Given the description of an element on the screen output the (x, y) to click on. 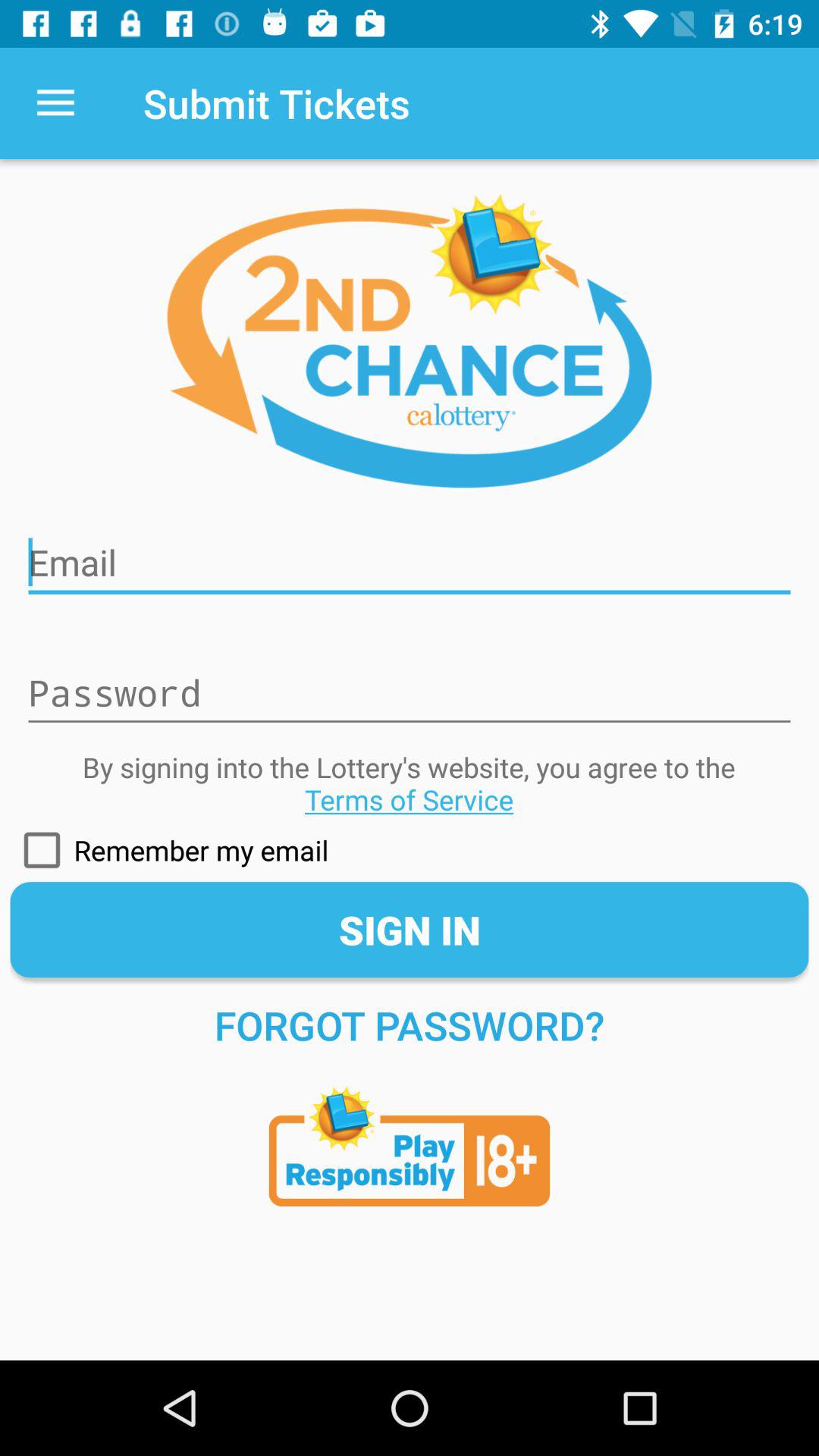
terms of age (409, 1139)
